Given the description of an element on the screen output the (x, y) to click on. 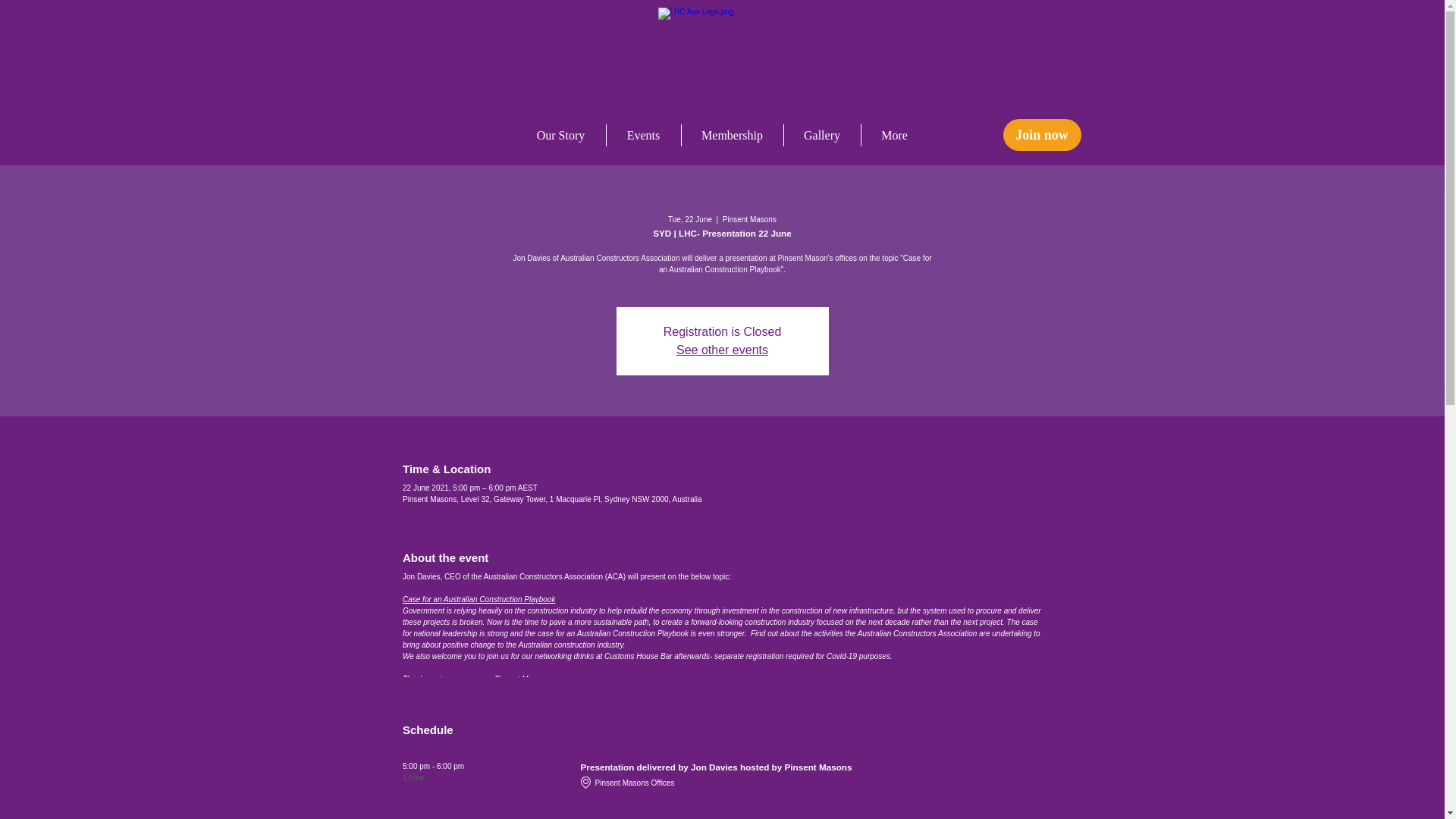
Our Story (560, 135)
Membership (732, 135)
Events (644, 135)
Gallery (822, 135)
See other events (722, 349)
Join now (1041, 134)
